Given the description of an element on the screen output the (x, y) to click on. 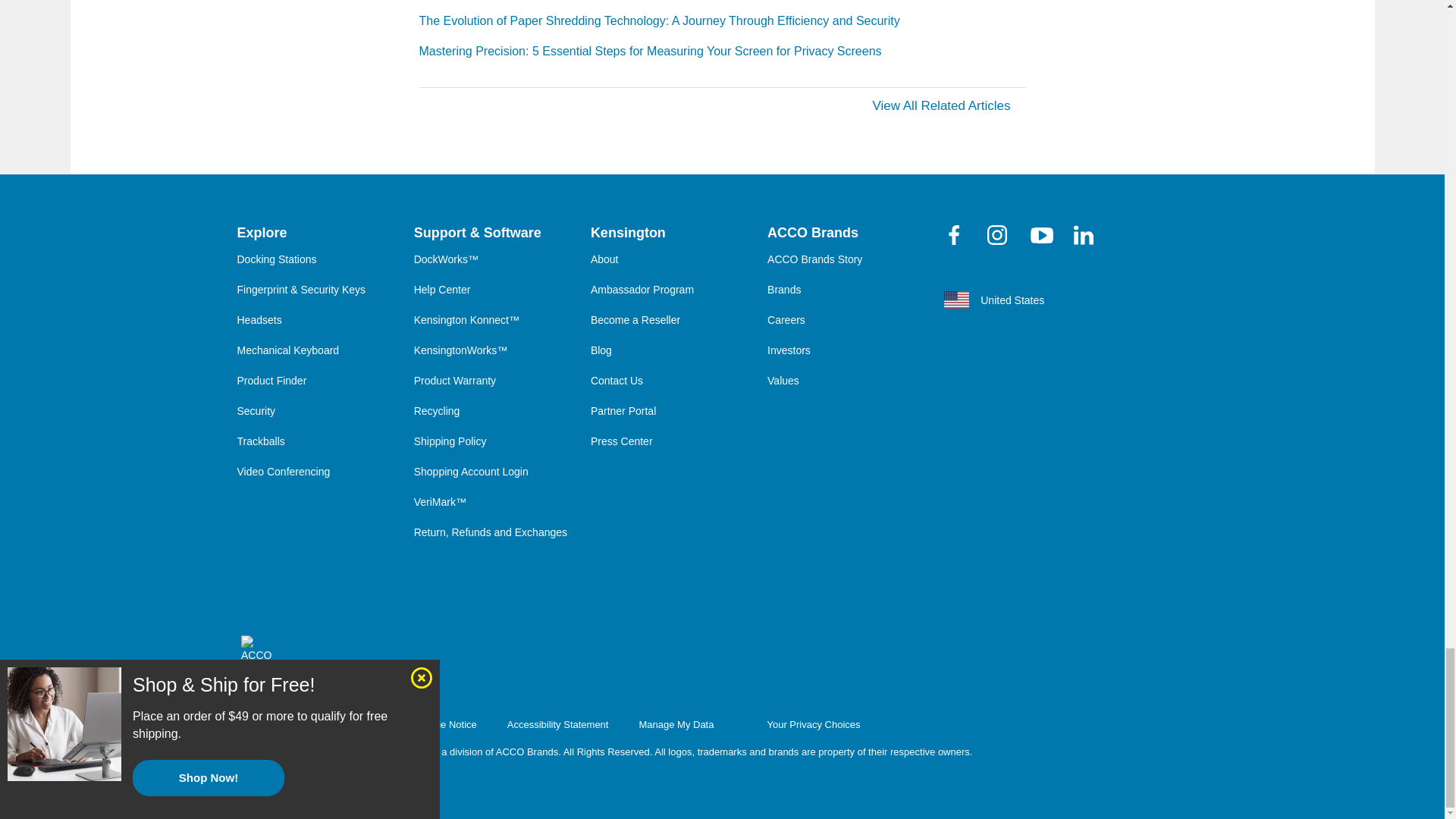
YouTube (1042, 234)
Instagram icon (997, 234)
Change Country (1042, 299)
